Given the description of an element on the screen output the (x, y) to click on. 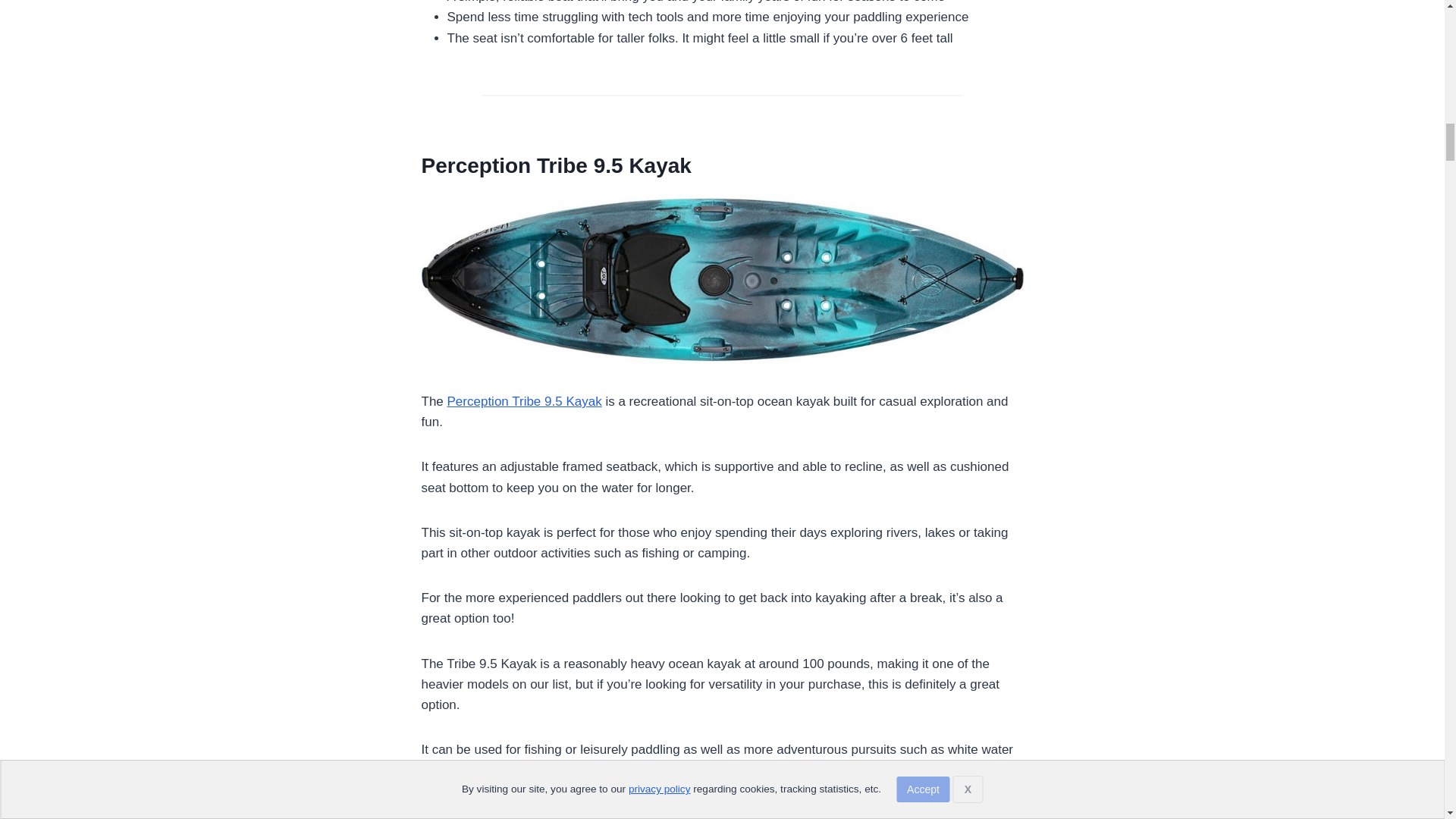
Perception Tribe 9.5 Kayak (524, 400)
Perception Tribe 9.5 Kayak (556, 165)
